Given the description of an element on the screen output the (x, y) to click on. 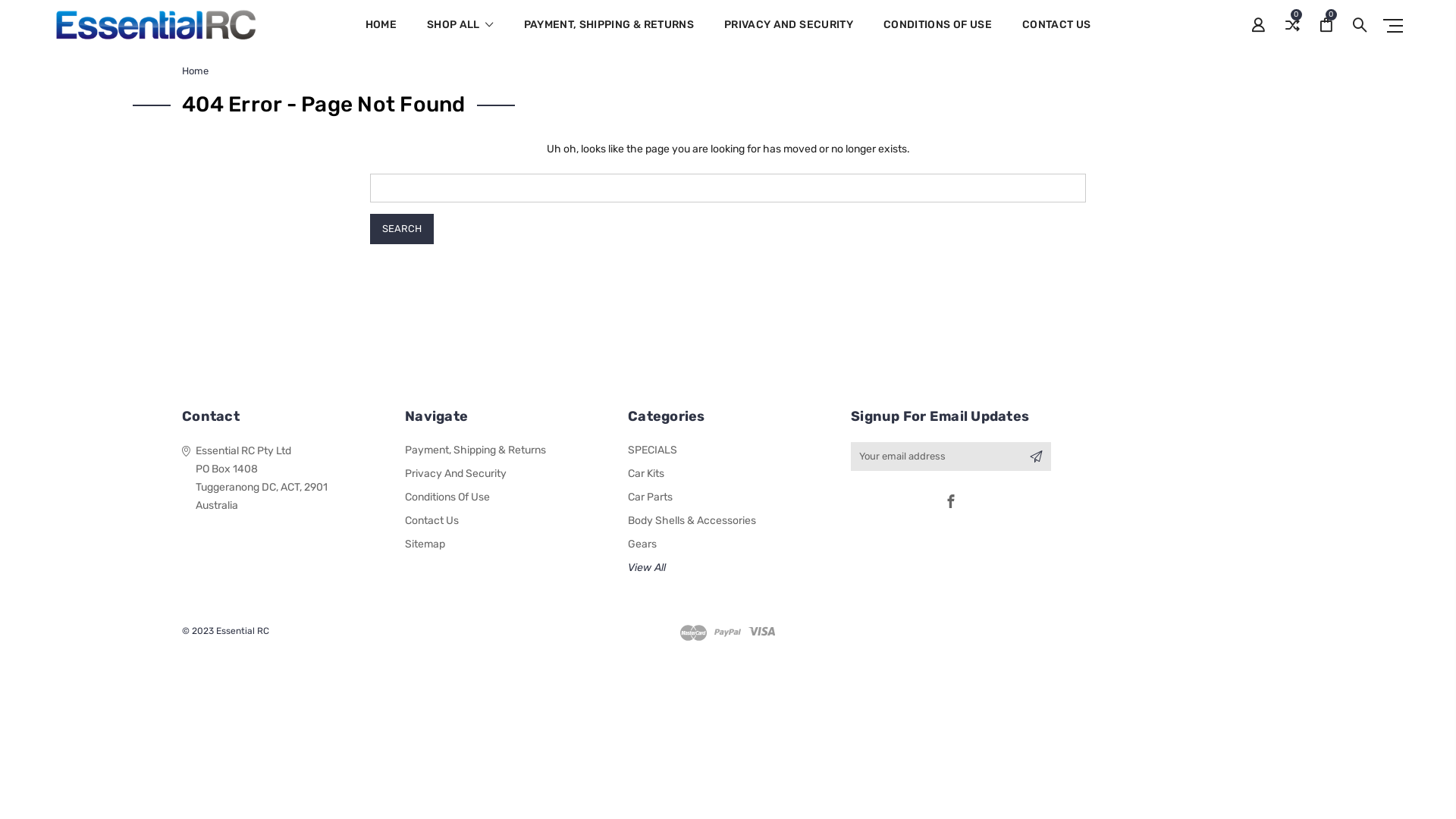
Conditions Of Use Element type: text (446, 496)
Privacy And Security Element type: text (455, 473)
0 Element type: text (1325, 25)
Body Shells & Accessories Element type: text (691, 520)
Search Element type: text (401, 228)
PAYMENT, SHIPPING & RETURNS Element type: text (608, 34)
Car Parts Element type: text (649, 496)
View All Element type: text (646, 567)
Payment, Shipping & Returns Element type: text (475, 449)
CONTACT US Element type: text (1056, 34)
0 Element type: text (1292, 25)
Essential RC Element type: hover (156, 24)
CONDITIONS OF USE Element type: text (937, 34)
Car Kits Element type: text (645, 473)
SPECIALS Element type: text (652, 449)
SHOP ALL Element type: text (459, 34)
Sitemap Element type: text (424, 543)
Contact Us Element type: text (431, 520)
Gears Element type: text (641, 543)
PRIVACY AND SECURITY Element type: text (788, 34)
HOME Element type: text (380, 34)
